Given the description of an element on the screen output the (x, y) to click on. 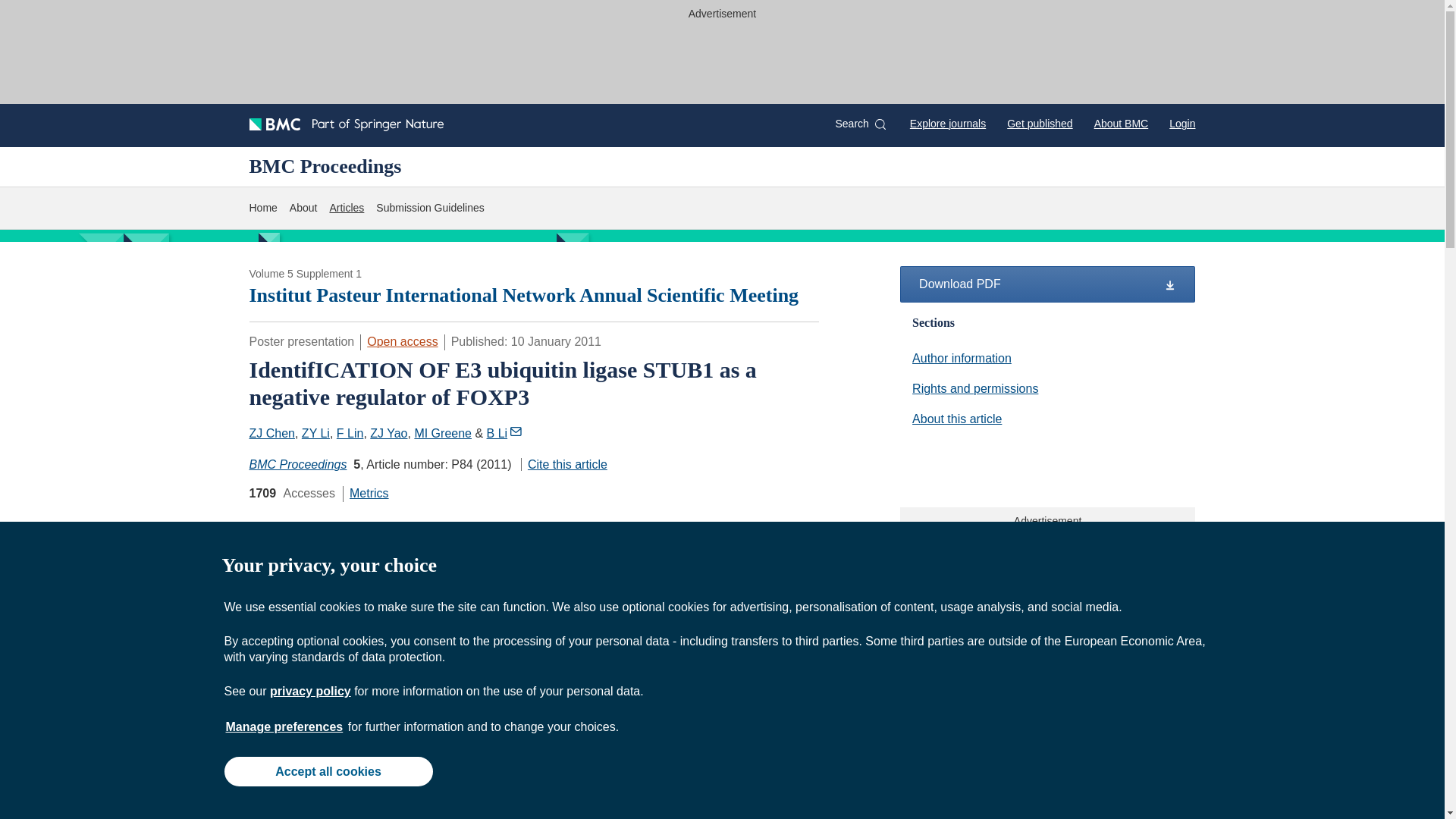
privacy policy (309, 690)
Get published (1039, 123)
About BMC (1121, 123)
ZJ Chen (271, 432)
Submission Guidelines (1047, 419)
Cite this article (429, 208)
Open access (564, 463)
Manage preferences (402, 341)
MI Greene (284, 726)
